Given the description of an element on the screen output the (x, y) to click on. 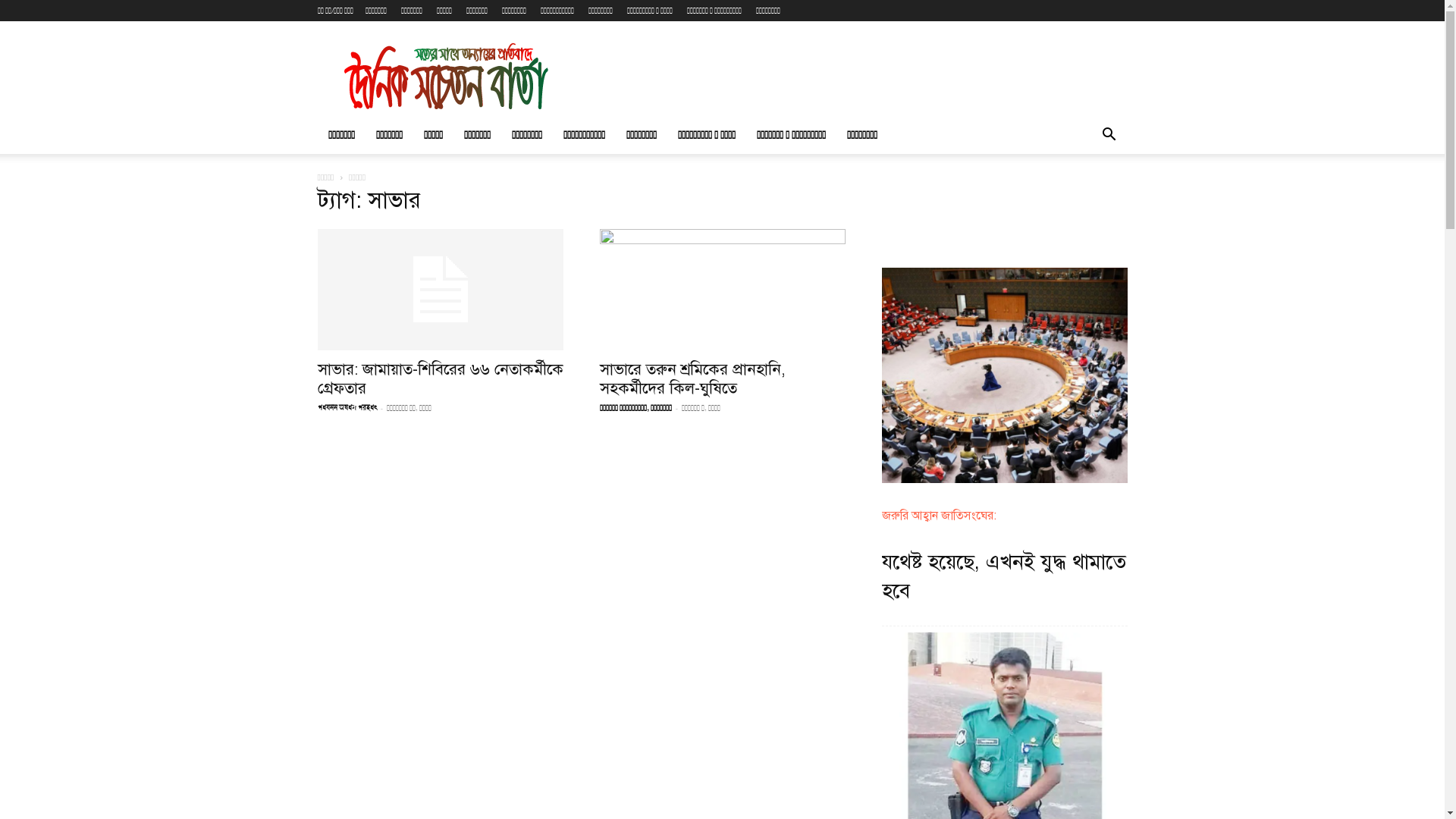
Mahbub Alam Minar Element type: text (346, 408)
Advertisement Element type: hover (850, 76)
